Given the description of an element on the screen output the (x, y) to click on. 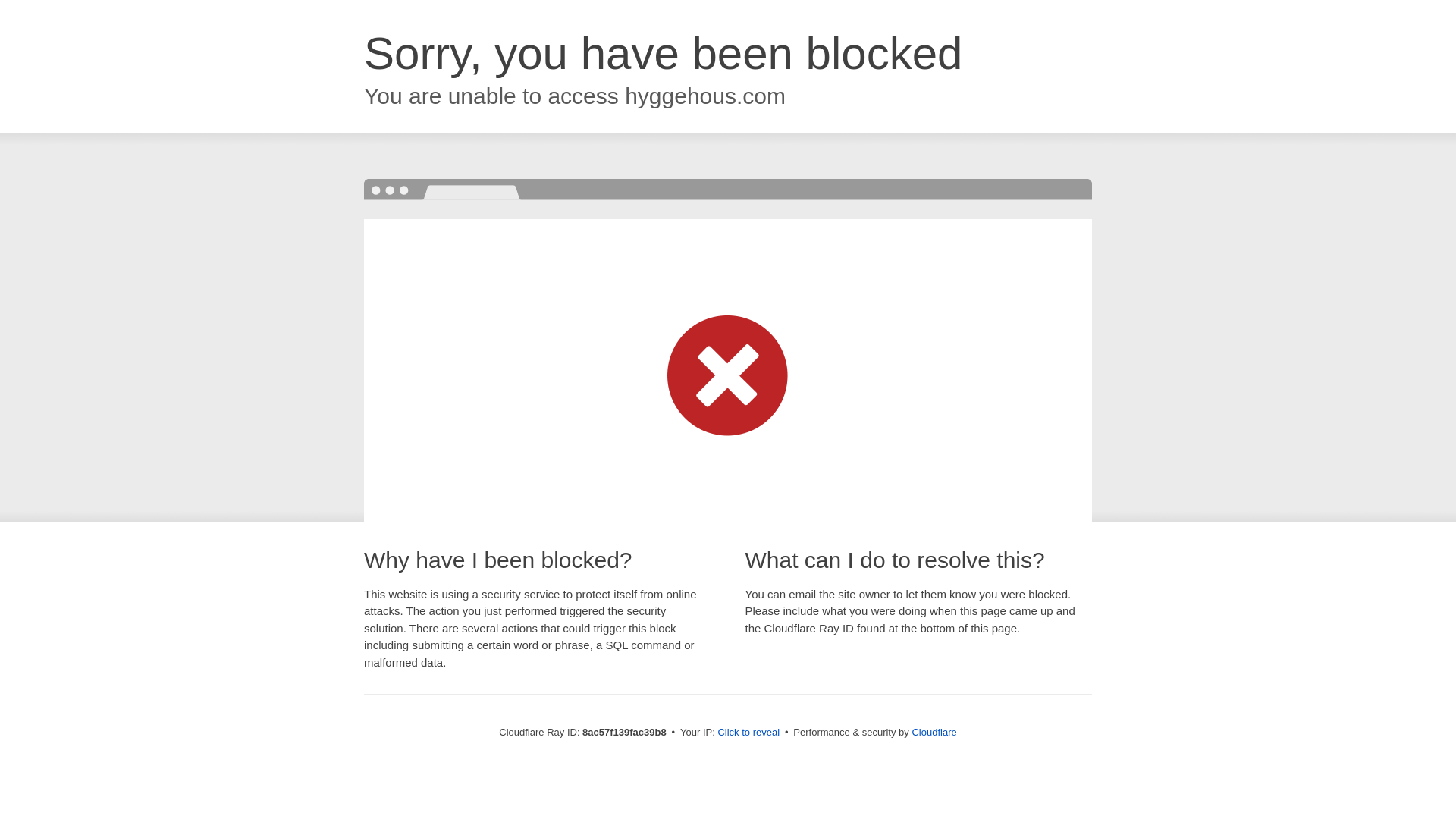
Cloudflare (933, 731)
Click to reveal (747, 732)
